Given the description of an element on the screen output the (x, y) to click on. 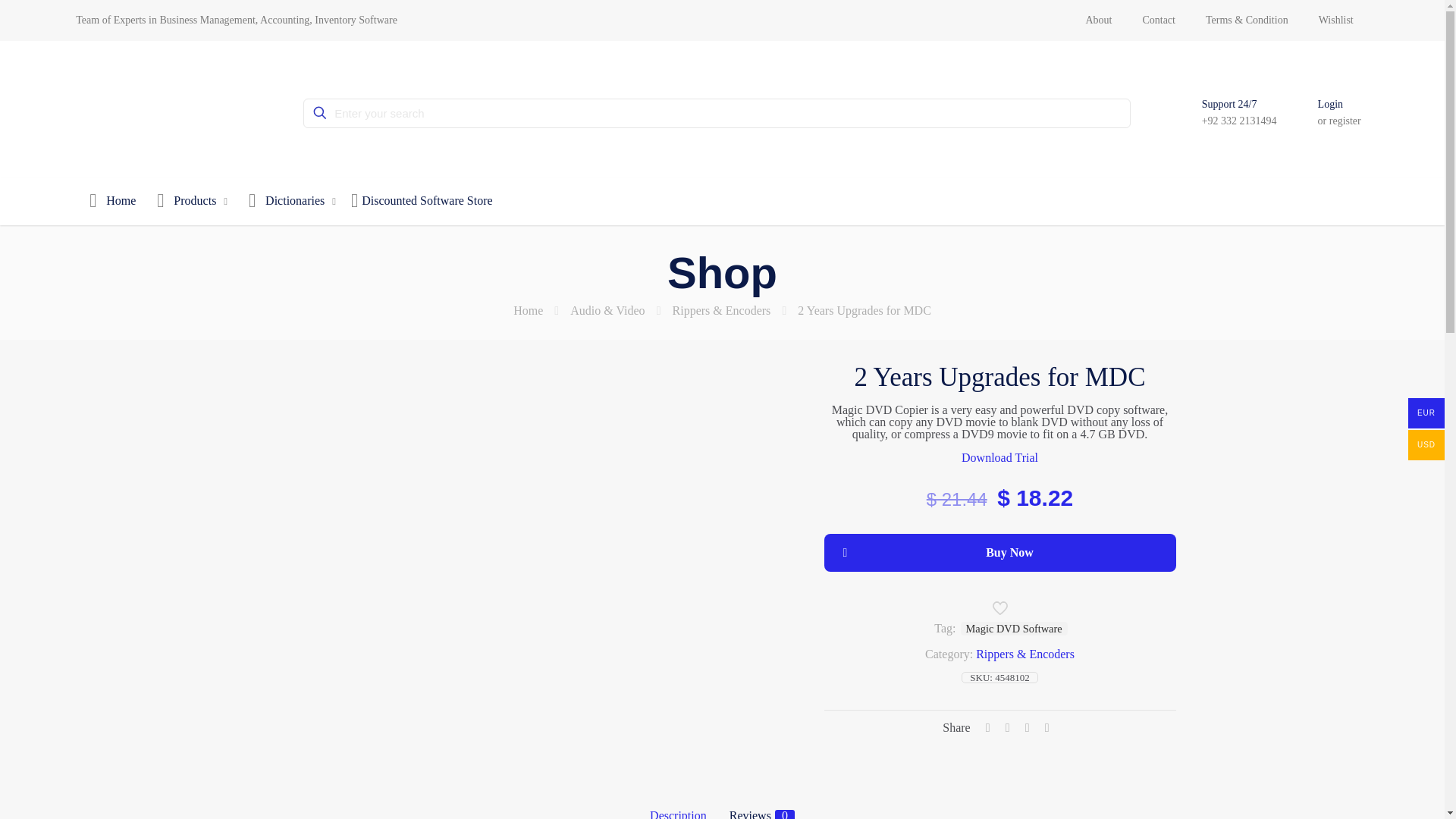
Wishlist (1335, 20)
Contact (1158, 20)
About (1098, 20)
